Given the description of an element on the screen output the (x, y) to click on. 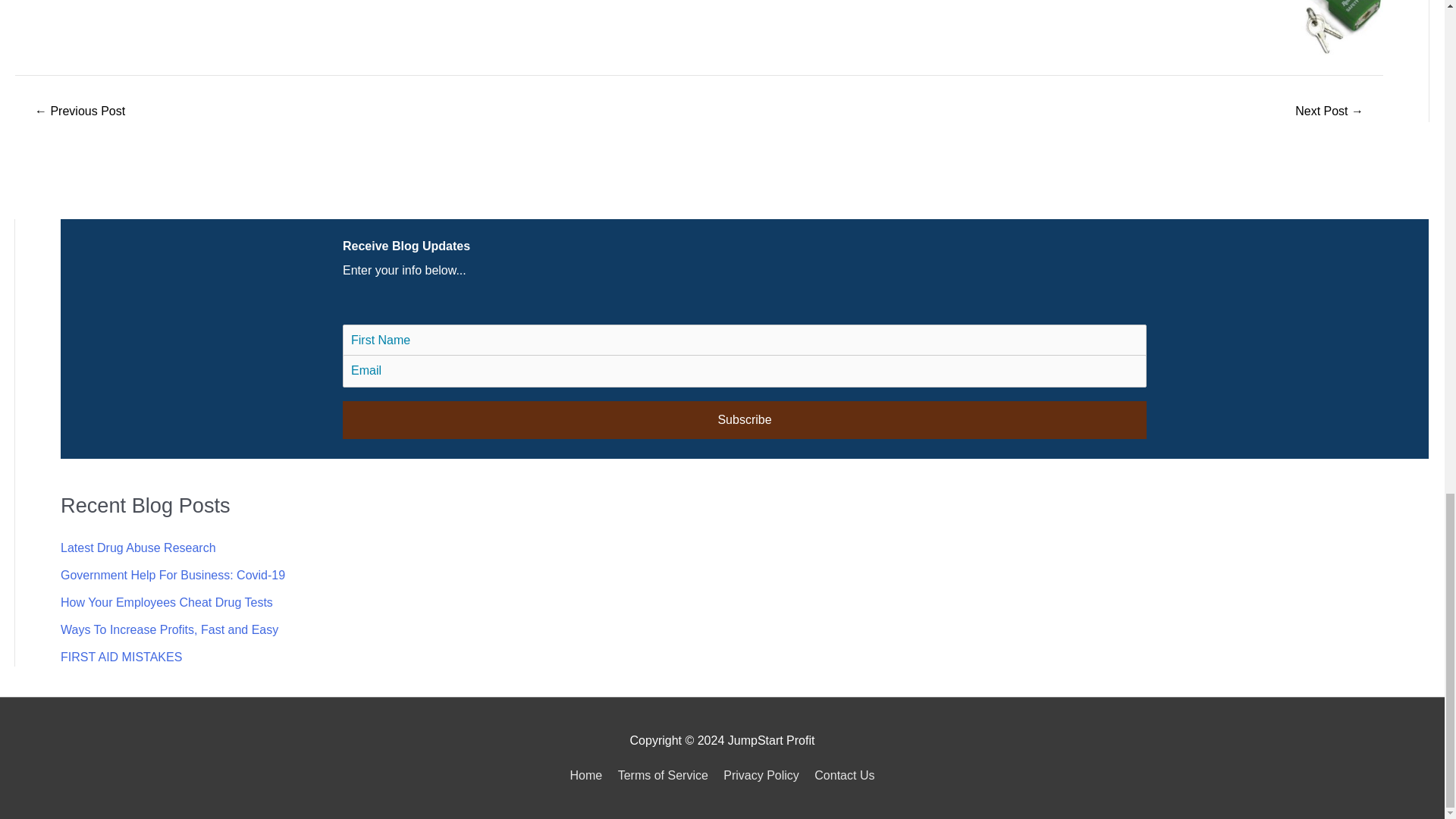
Martial Arts For Self Defense (79, 111)
Ways To Increase Profits, Fast and Easy (169, 629)
Subscribe (744, 419)
Privacy Policy (761, 775)
FIRST AID MISTAKES (121, 656)
Government Help For Business: Covid-19 (173, 574)
Opioid Addiction Epidemic In America (1328, 111)
Contact Us (841, 775)
How Your Employees Cheat Drug Tests (167, 602)
Subscribe (744, 419)
Latest Drug Abuse Research (138, 547)
Terms of Service (662, 775)
Home (589, 775)
